Given the description of an element on the screen output the (x, y) to click on. 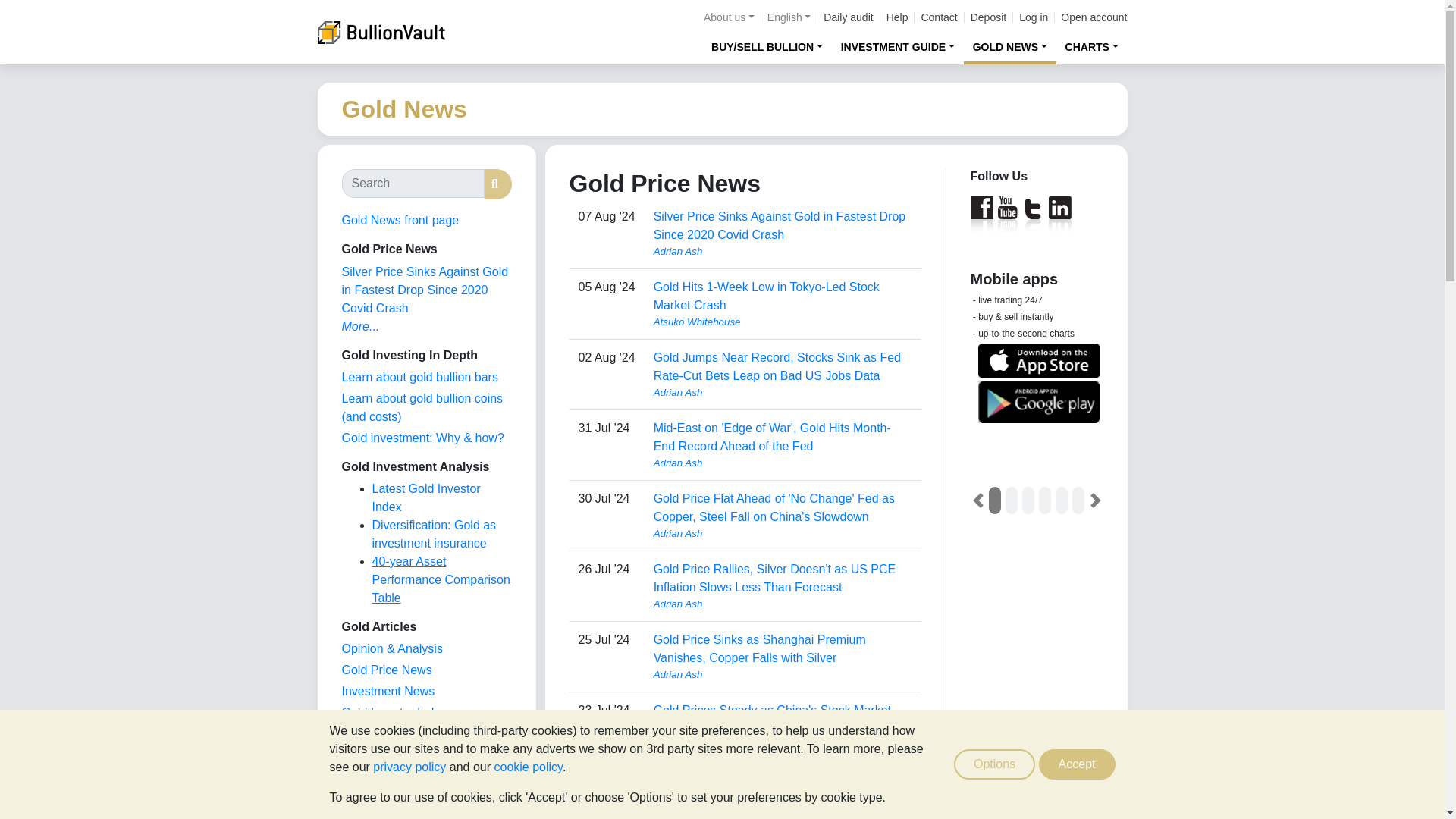
Enter the terms you wish to search for. (411, 183)
View user profile. (782, 392)
Open account (1093, 17)
Log in (1033, 17)
Help (897, 17)
Deposit (988, 17)
Accept (1077, 764)
INVESTMENT GUIDE (897, 46)
View user profile. (782, 462)
Books about Gold Reviewed (372, 797)
Gold in History (380, 775)
Gold Price News (385, 669)
View user profile. (782, 674)
Market Fundamentals (399, 754)
View user profile. (782, 744)
